Given the description of an element on the screen output the (x, y) to click on. 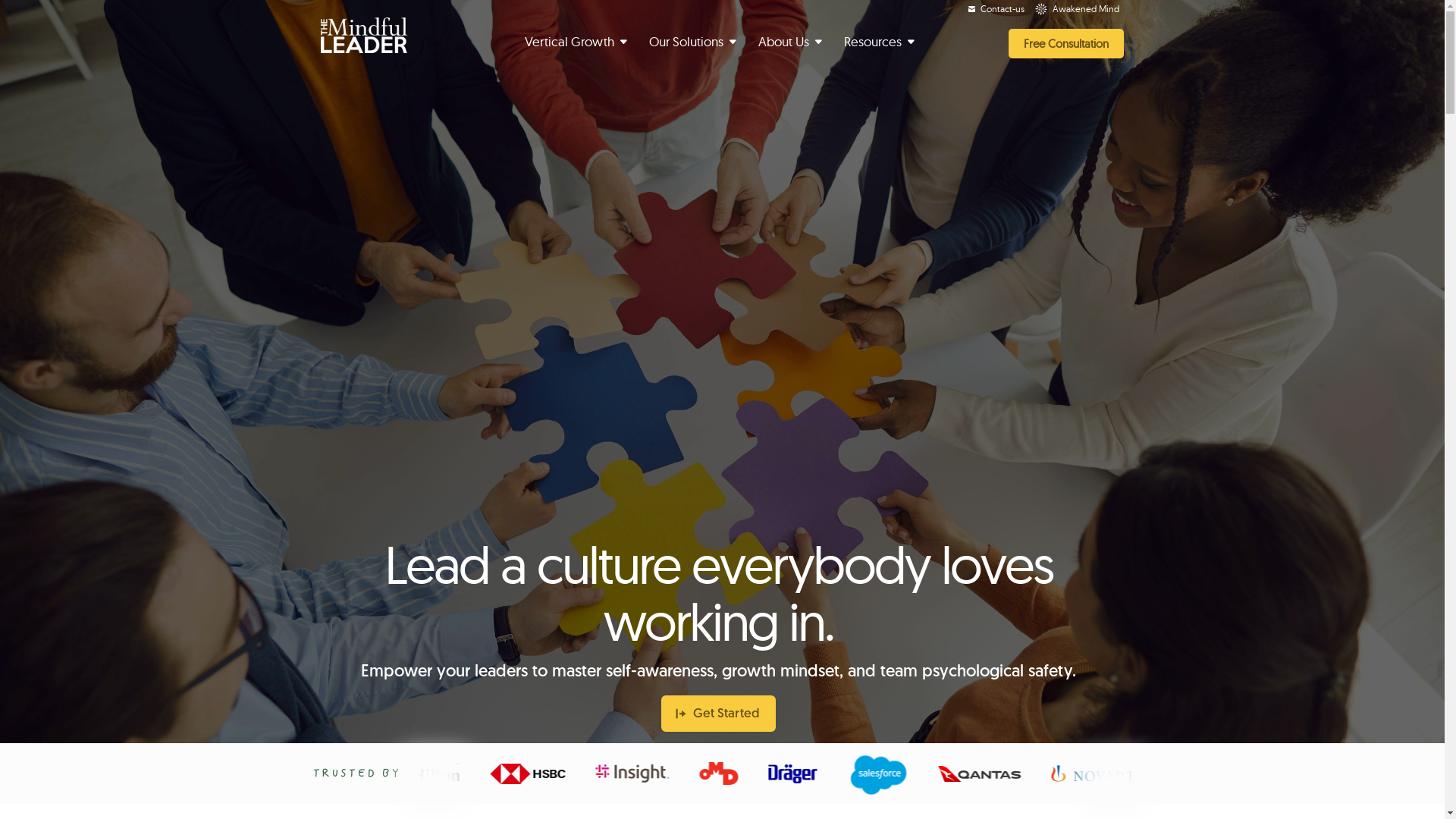
Resources Element type: text (880, 42)
novartis-vector-logo Element type: hover (1104, 773)
Vertical Growth Element type: text (576, 42)
Free Consultation Element type: text (1065, 43)
Awakened Mind Element type: text (1076, 8)
Logo_OMD Element type: hover (725, 773)
HSBC_logo_2018 Element type: hover (535, 772)
Contact-us Element type: text (996, 8)
Get Started Element type: text (718, 713)
Our Solutions Element type: text (693, 42)
Drager_Logo Element type: hover (799, 773)
qantas-vector-logo Element type: hover (984, 773)
HiltonHotelsLogo Element type: hover (430, 773)
About Us Element type: text (791, 42)
insight-enterprises-inc-vector-logo Element type: hover (639, 773)
